Given the description of an element on the screen output the (x, y) to click on. 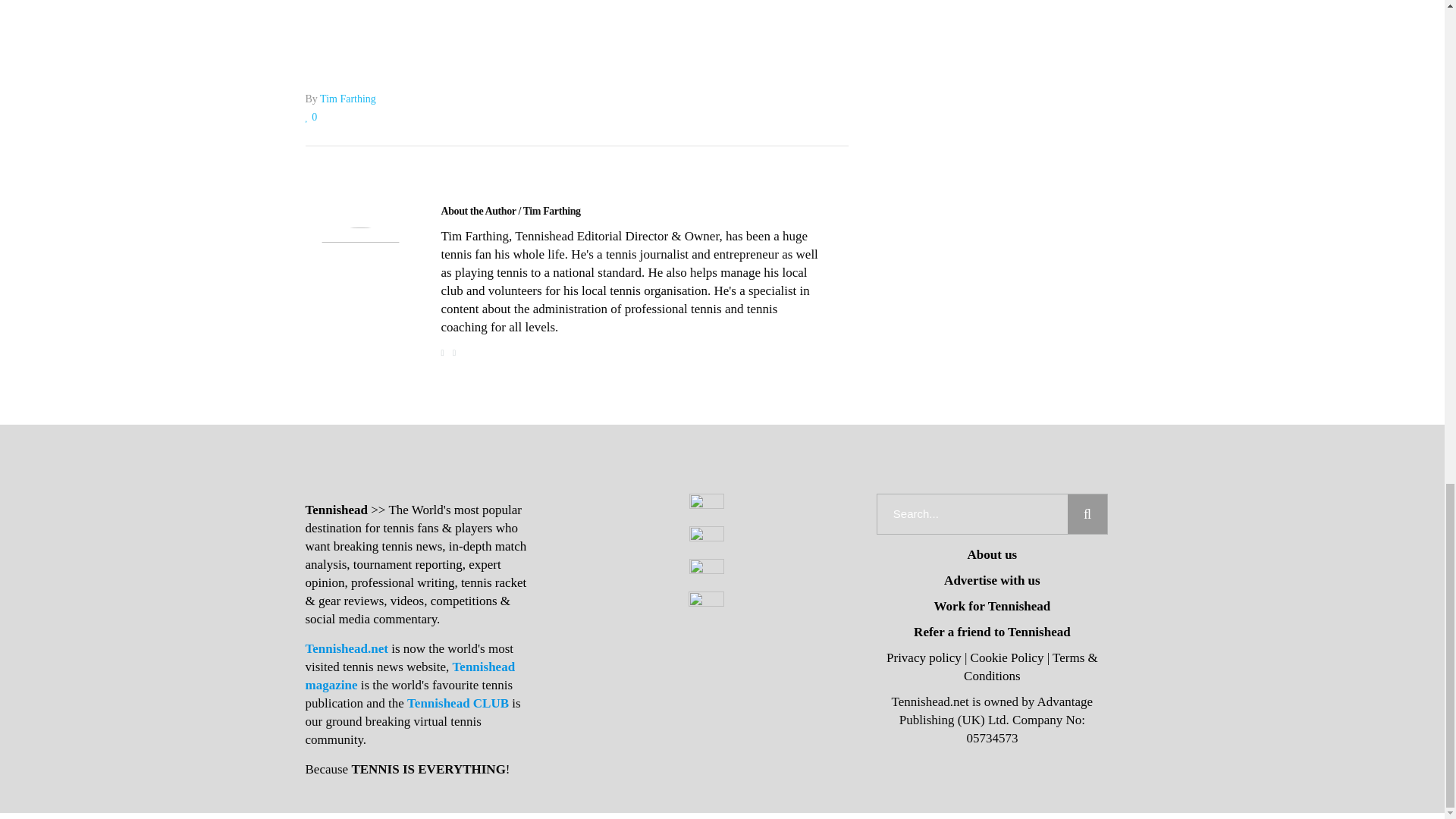
Search for: (972, 513)
Djokovic does it again (510, 211)
Like this (310, 116)
TNNS Live Scores (576, 12)
Djokovic does it again (359, 282)
